Given the description of an element on the screen output the (x, y) to click on. 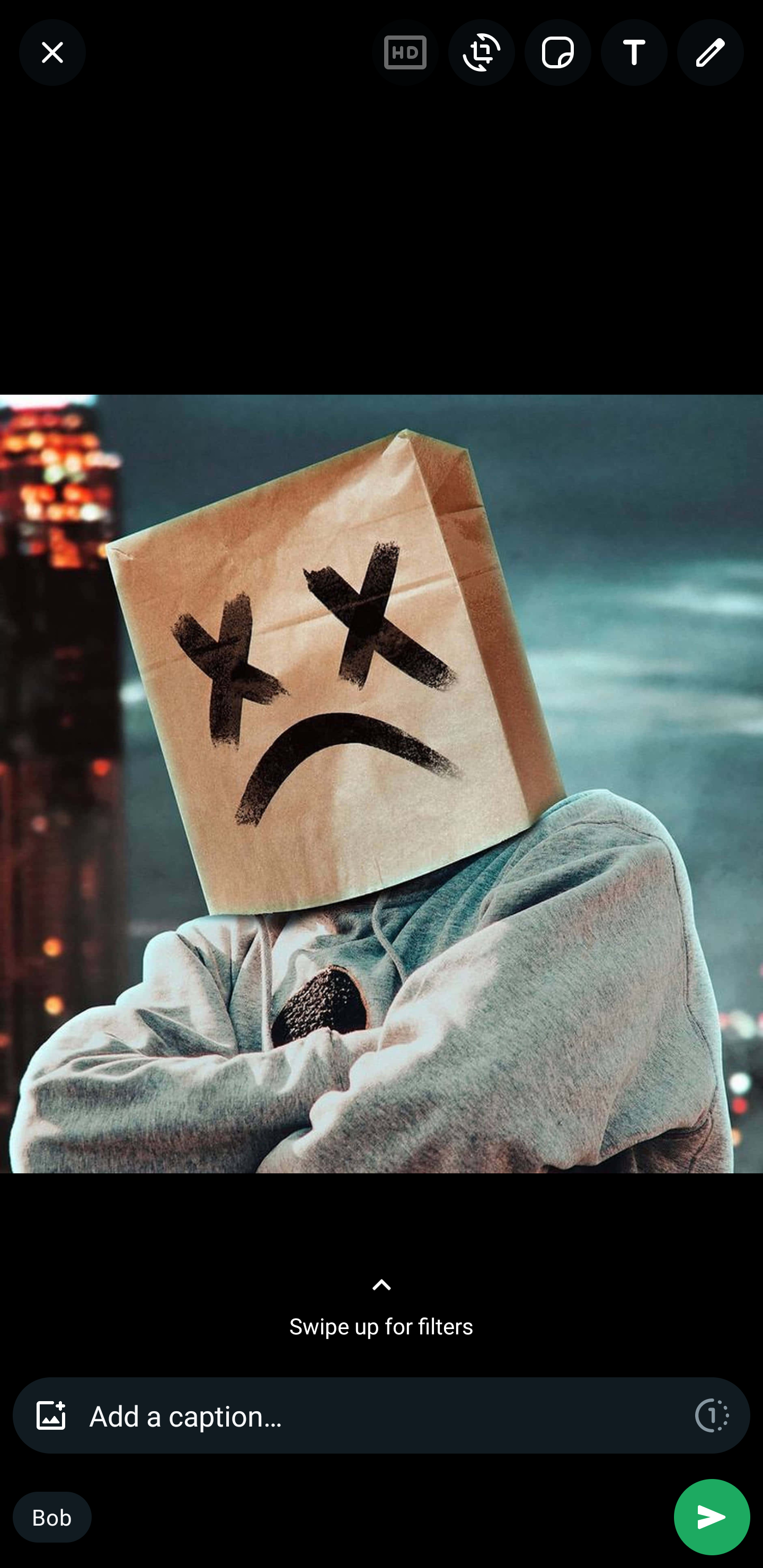
Back (52, 52)
Media upload quality (405, 52)
Crop and rotate (481, 52)
Emoji and shapes (557, 52)
Add text (633, 52)
Draw (710, 52)
Add media (50, 1414)
Turn on view once (711, 1414)
Add a caption… (381, 1414)
Bob (51, 1516)
Send (711, 1516)
